Given the description of an element on the screen output the (x, y) to click on. 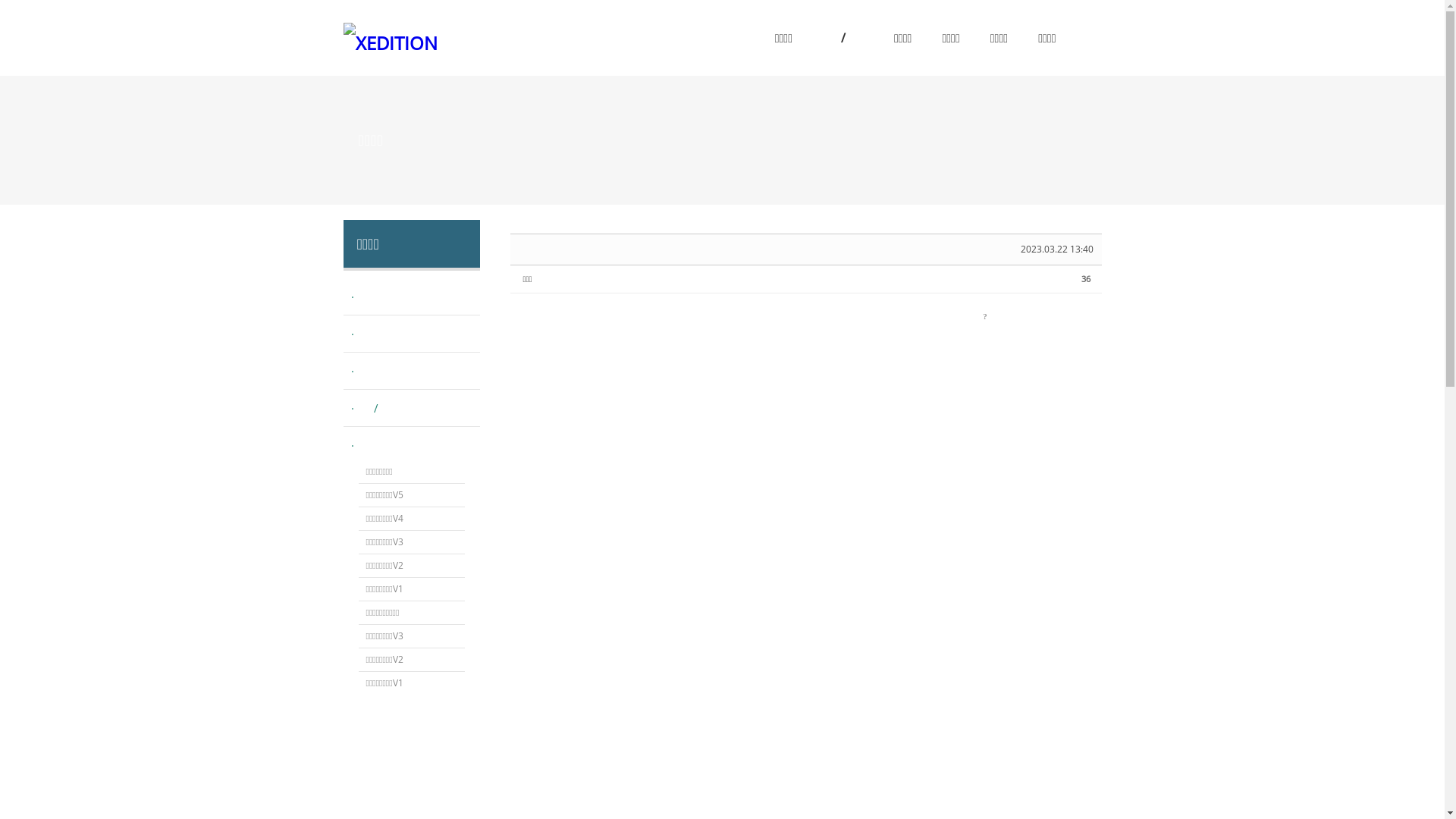
? Element type: text (983, 315)
